Given the description of an element on the screen output the (x, y) to click on. 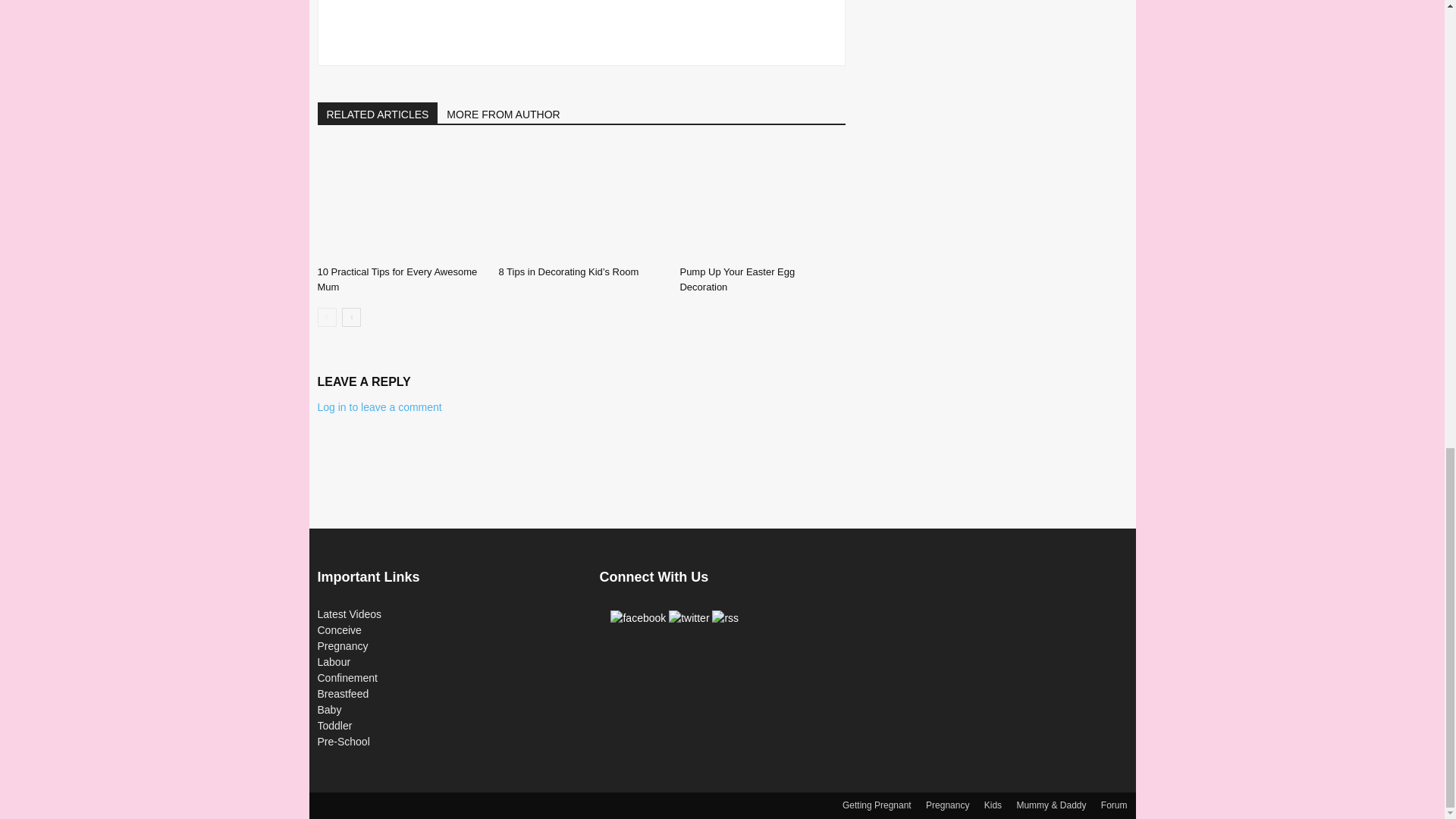
10 Practical Tips for Every Awesome Mum (399, 202)
